Given the description of an element on the screen output the (x, y) to click on. 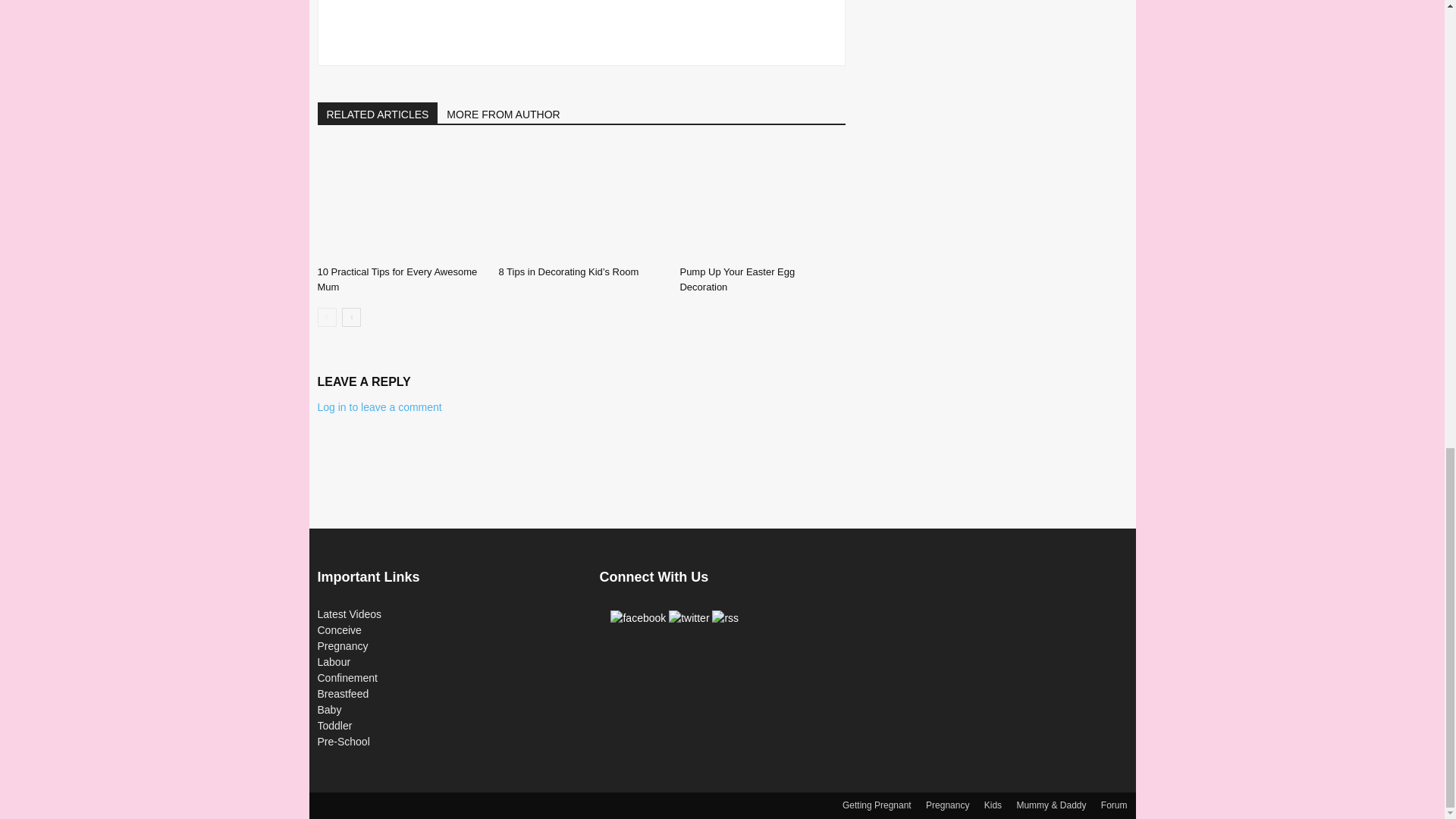
10 Practical Tips for Every Awesome Mum (399, 202)
